Given the description of an element on the screen output the (x, y) to click on. 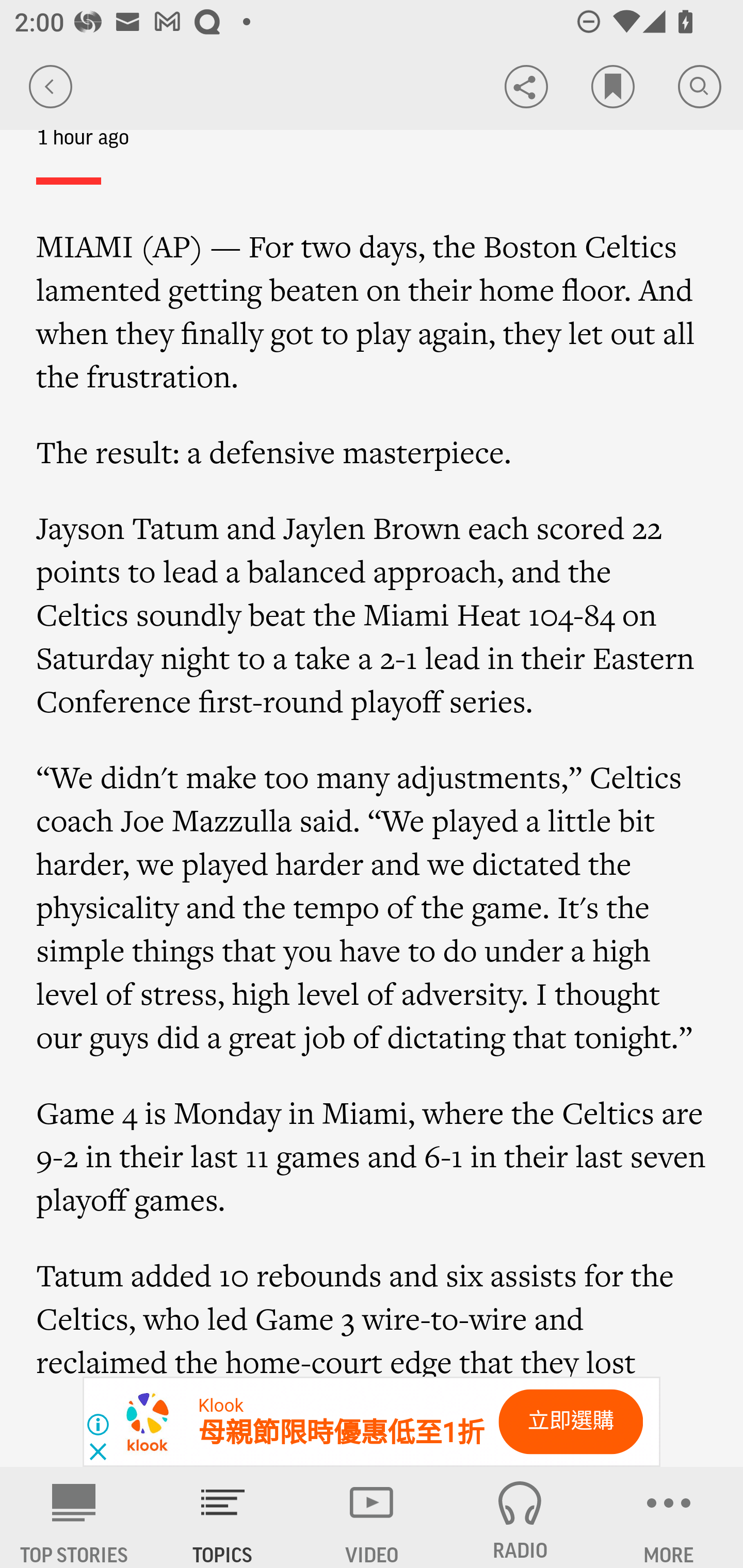
立即選購 Klook 母親節限時優惠低至1折 立即選購 Klook 母親節限時優惠低至1折 (371, 1421)
AP News TOP STORIES (74, 1517)
TOPICS (222, 1517)
VIDEO (371, 1517)
RADIO (519, 1517)
MORE (668, 1517)
